Given the description of an element on the screen output the (x, y) to click on. 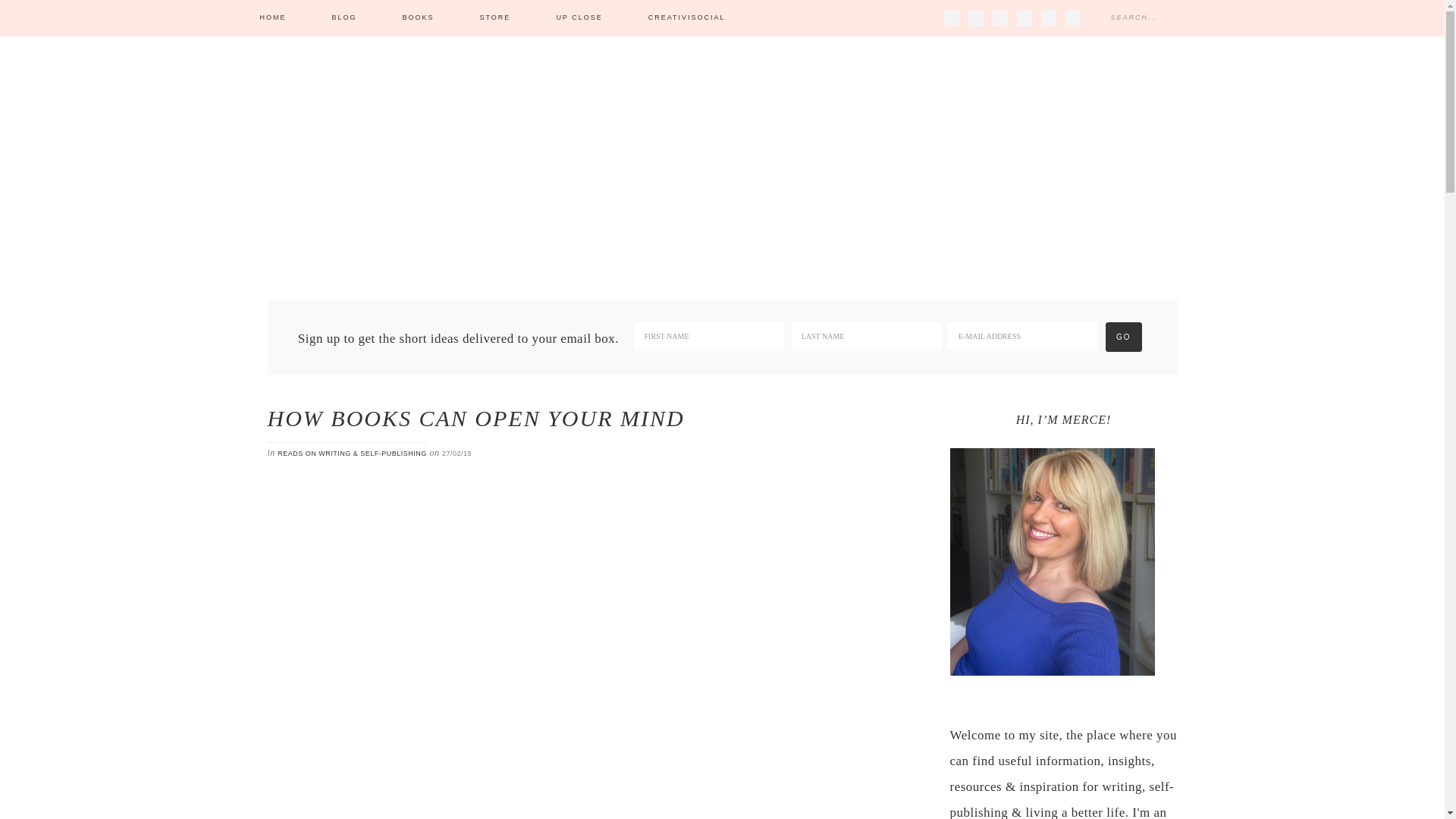
UP CLOSE (578, 18)
BOOKS (418, 18)
CREATIVISOCIAL (687, 18)
Go (1123, 337)
HOME (271, 18)
Go (1123, 337)
BLOG (344, 18)
STORE (495, 18)
MERCE CARDUS (722, 143)
